Given the description of an element on the screen output the (x, y) to click on. 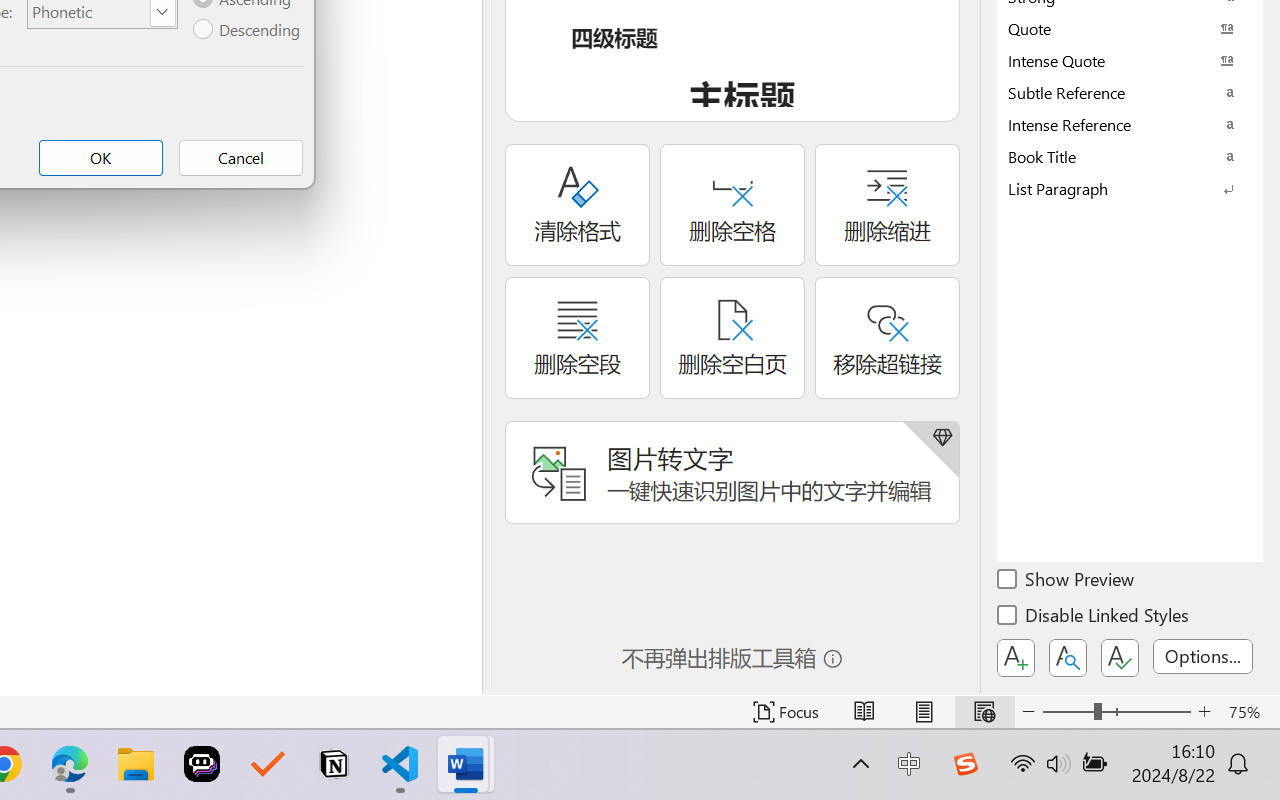
Print Layout (924, 712)
Intense Quote (1130, 60)
OK (100, 157)
Book Title (1130, 156)
Cancel (240, 157)
Disable Linked Styles (1094, 618)
